Given the description of an element on the screen output the (x, y) to click on. 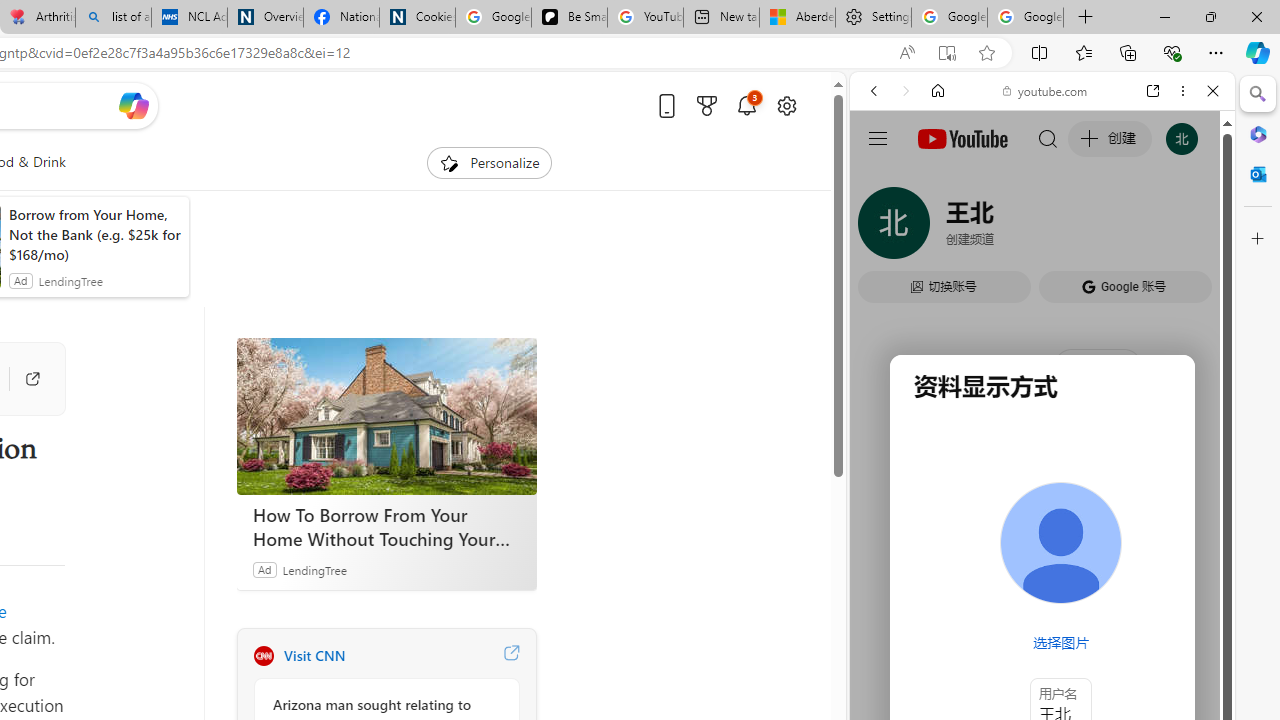
Show More Music (1164, 546)
Aberdeen, Hong Kong SAR hourly forecast | Microsoft Weather (797, 17)
LendingTree (313, 569)
